Given the description of an element on the screen output the (x, y) to click on. 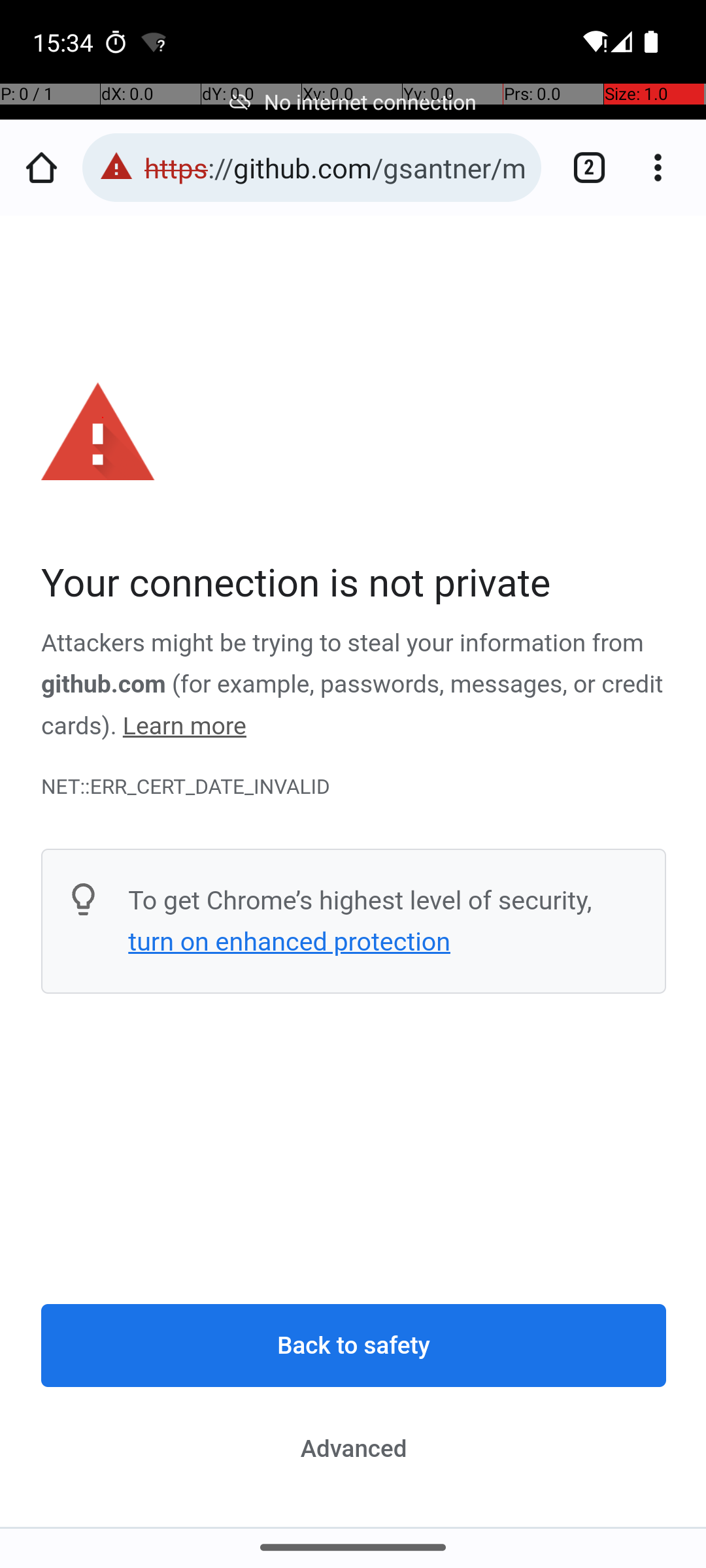
https://github.com/gsantner/markor/issues/new/choose Element type: android.widget.EditText (335, 167)
